Given the description of an element on the screen output the (x, y) to click on. 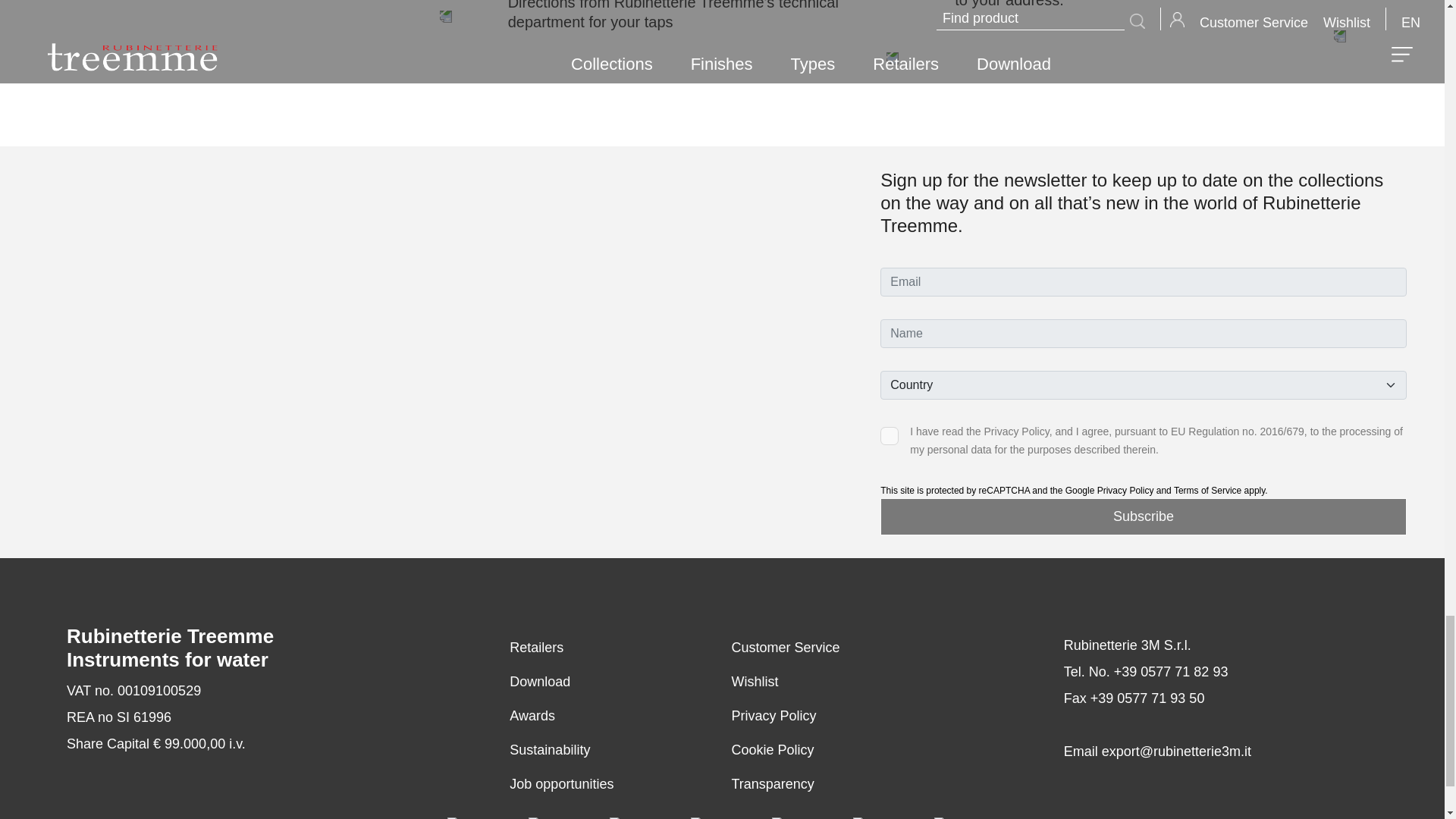
on (889, 435)
Cookie Policy  (771, 749)
Privacy Policy  (772, 715)
